Given the description of an element on the screen output the (x, y) to click on. 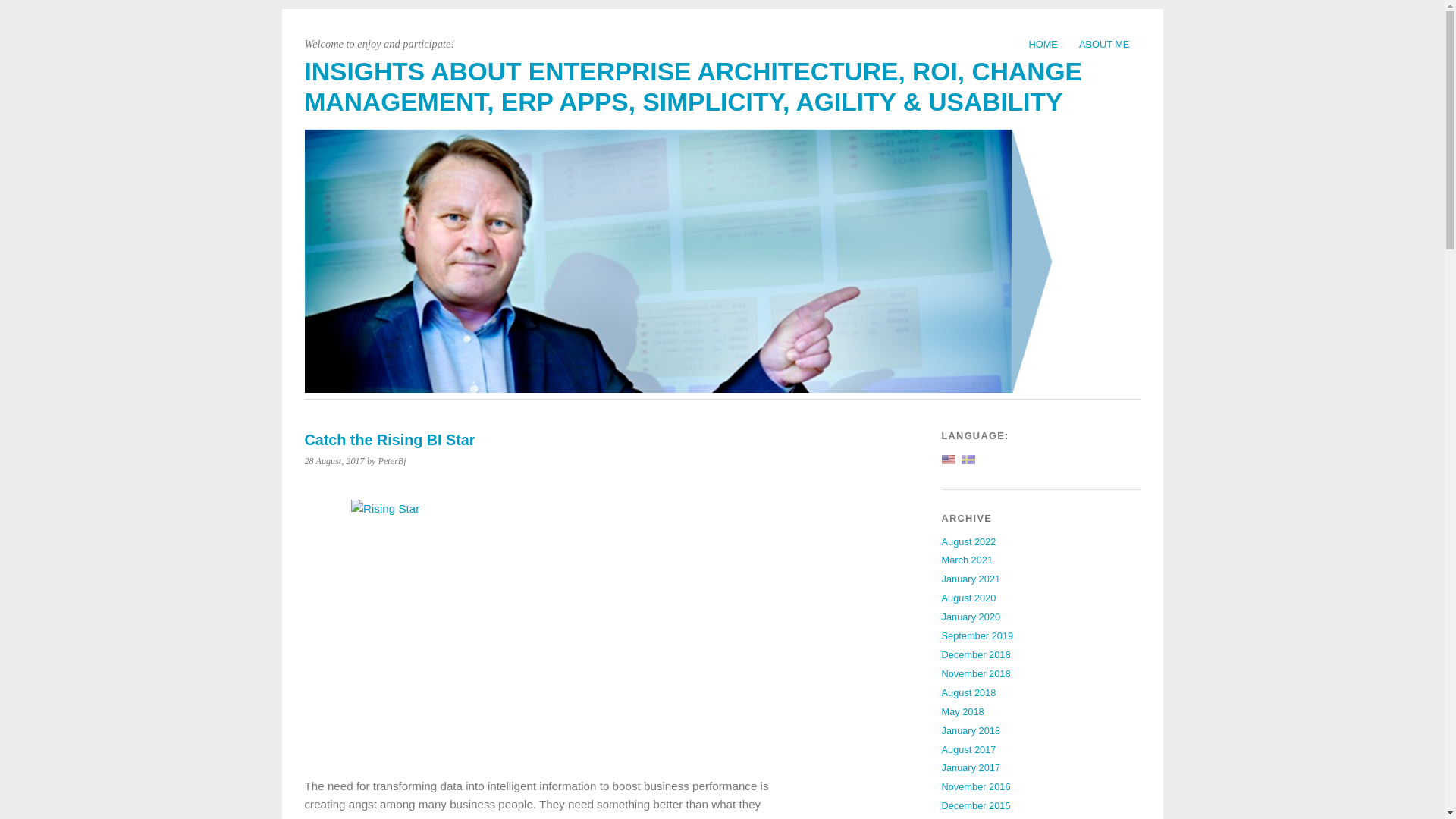
May 2018 (963, 711)
January 2018 (971, 730)
January 2017 (971, 767)
November 2018 (976, 673)
January 2021 (971, 578)
August 2022 (968, 541)
January 2020 (971, 616)
August 2018 (968, 692)
September 2019 (977, 635)
December 2018 (976, 654)
